Given the description of an element on the screen output the (x, y) to click on. 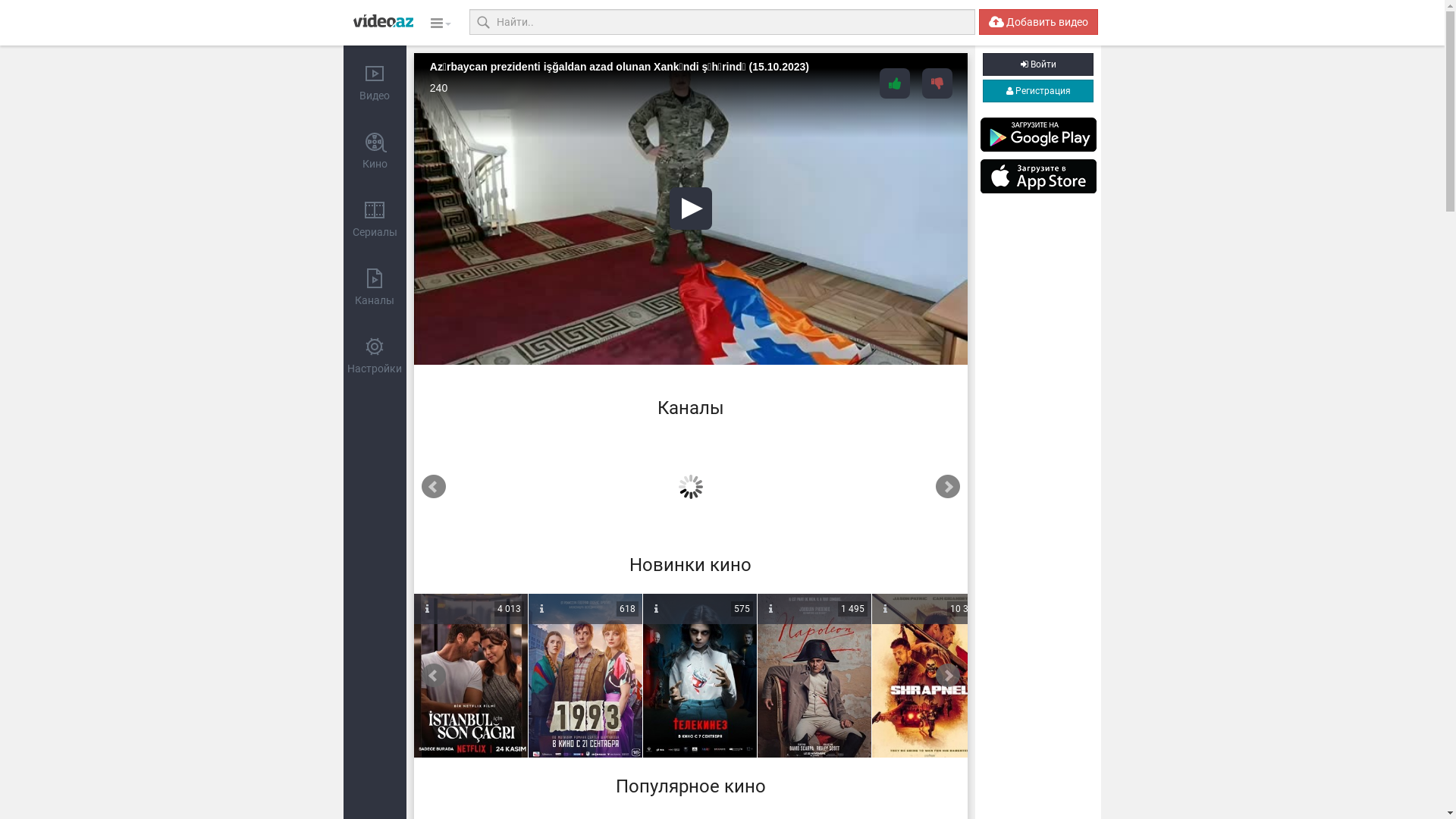
Prev Element type: text (433, 486)
Next Element type: text (947, 486)
1993 (2023) HDRip Element type: hover (585, 675)
Prev Element type: text (433, 675)
Next Element type: text (947, 675)
Autograph magazine Element type: hover (527, 482)
